Given the description of an element on the screen output the (x, y) to click on. 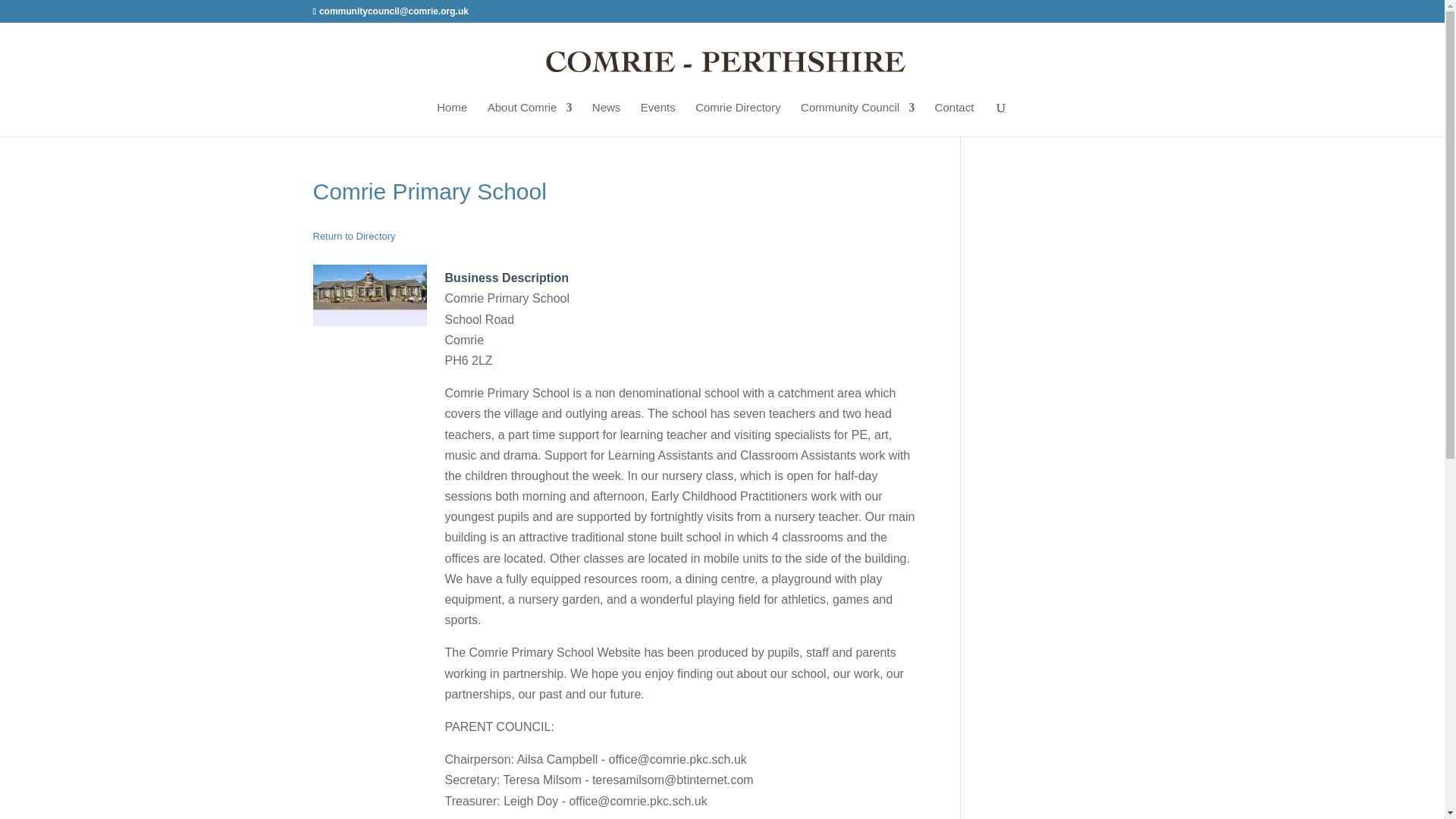
Contact (954, 118)
Comrie Primary School (369, 294)
Events (657, 118)
About Comrie (529, 118)
Comrie Directory (737, 118)
Community Council (857, 118)
Return to Directory (353, 235)
